Given the description of an element on the screen output the (x, y) to click on. 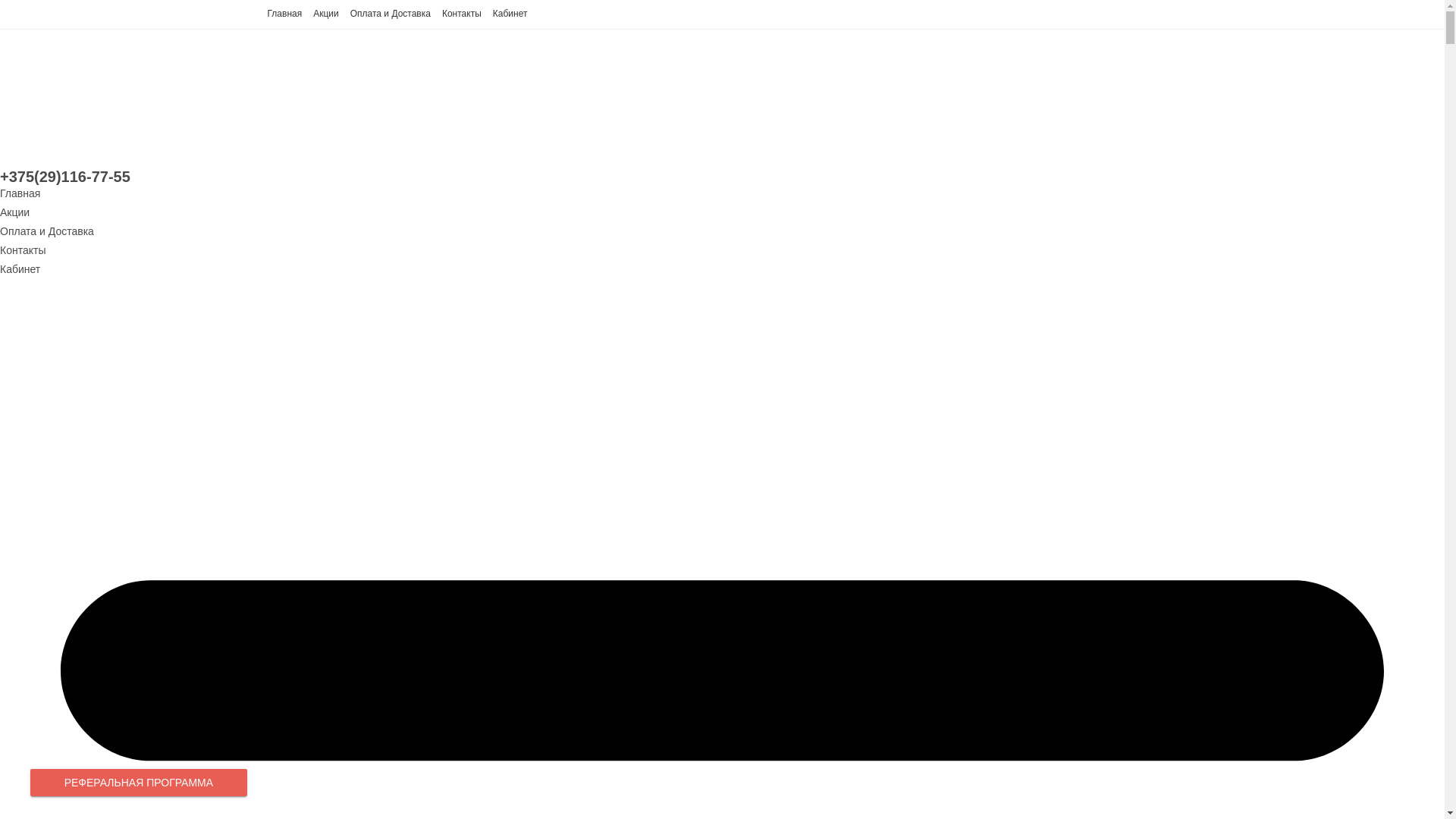
+375(29)116-77-55 Element type: text (65, 176)
